Given the description of an element on the screen output the (x, y) to click on. 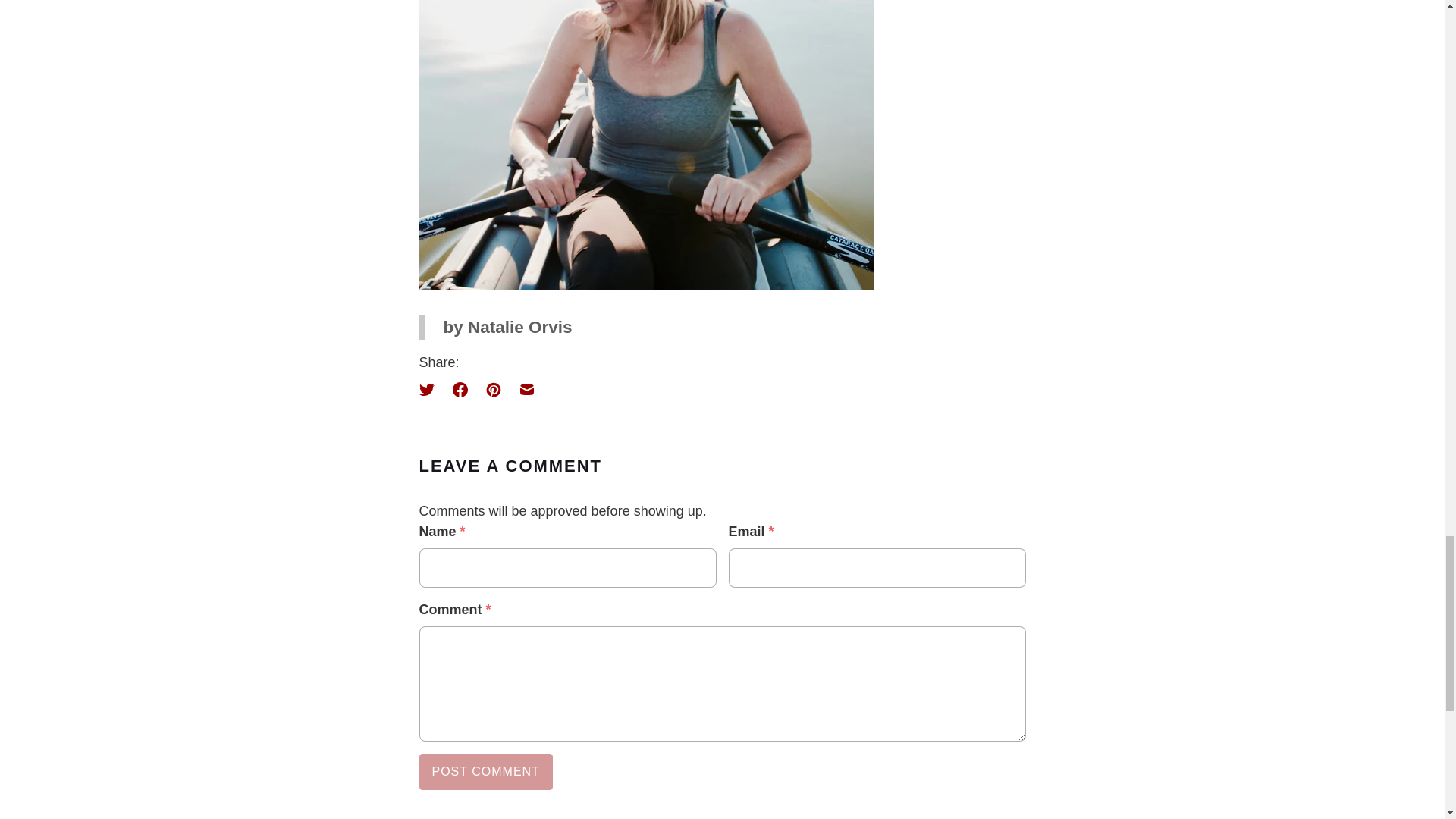
Email this to a friend (526, 389)
Share this on Pinterest (492, 389)
Share this on Facebook (459, 389)
Post comment (485, 771)
